Given the description of an element on the screen output the (x, y) to click on. 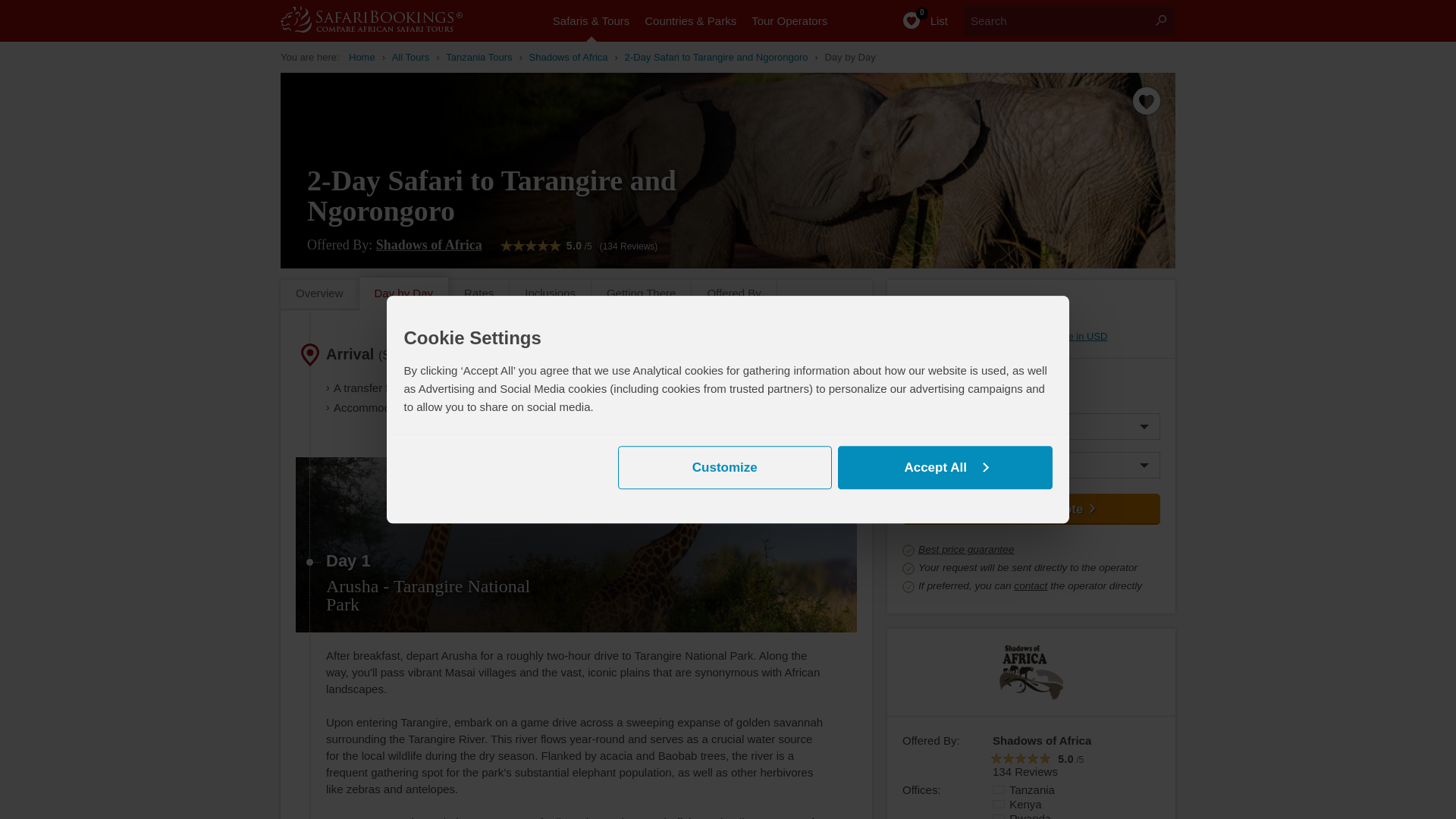
SafariBookings.com (362, 57)
Rwanda (998, 816)
Tanzania Tours (478, 57)
Submit search query (1160, 20)
Day by Day (849, 57)
Customize (724, 466)
Favorites List (916, 20)
2-Day Safari to Tarangire and Ngorongoro (716, 57)
SafariBookings.com (387, 18)
Shadows of Africa (428, 244)
